Given the description of an element on the screen output the (x, y) to click on. 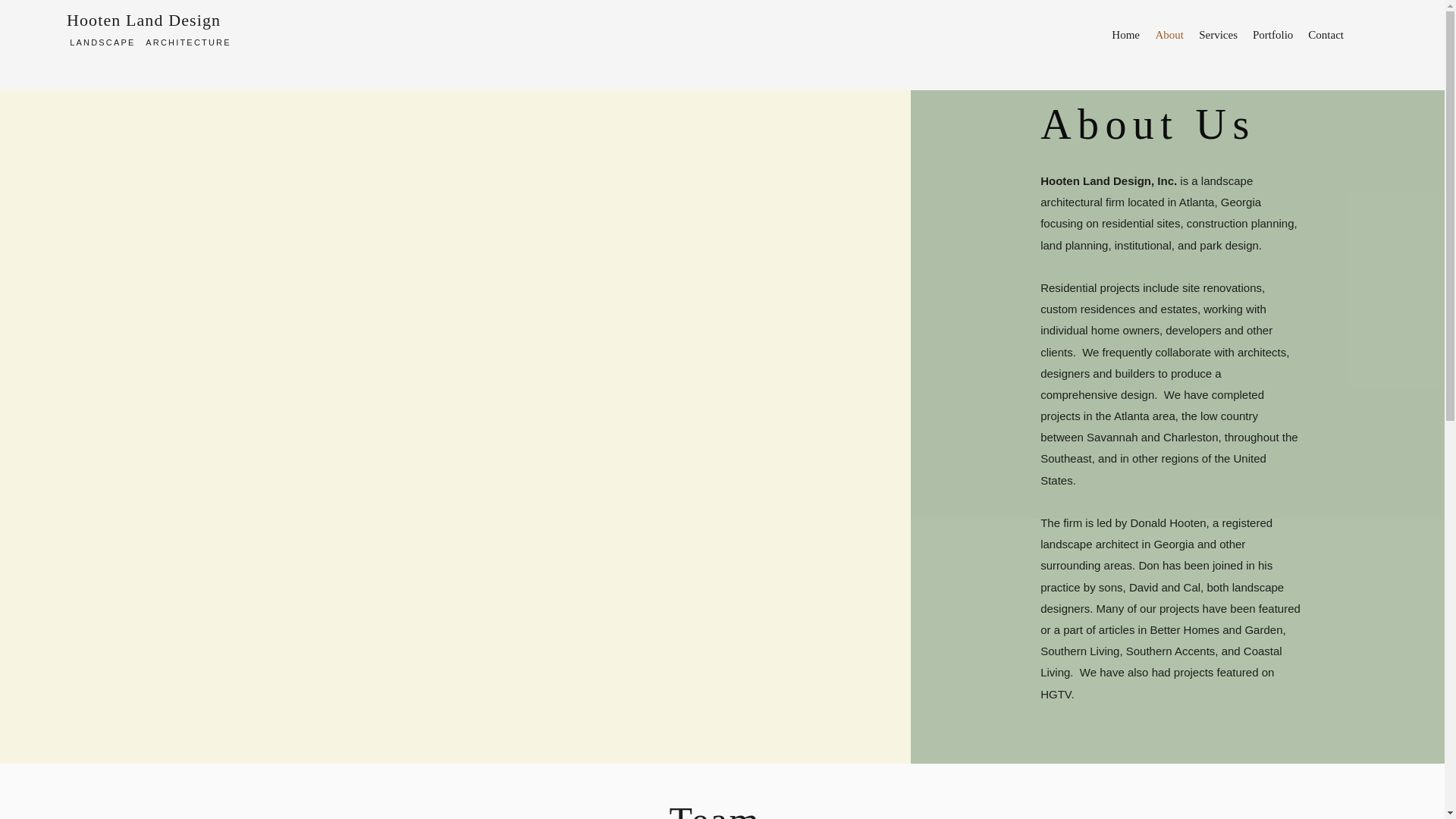
Home (1125, 34)
Hooten Land Design (143, 19)
Contact (1325, 34)
About (1169, 34)
Services (1217, 34)
